Given the description of an element on the screen output the (x, y) to click on. 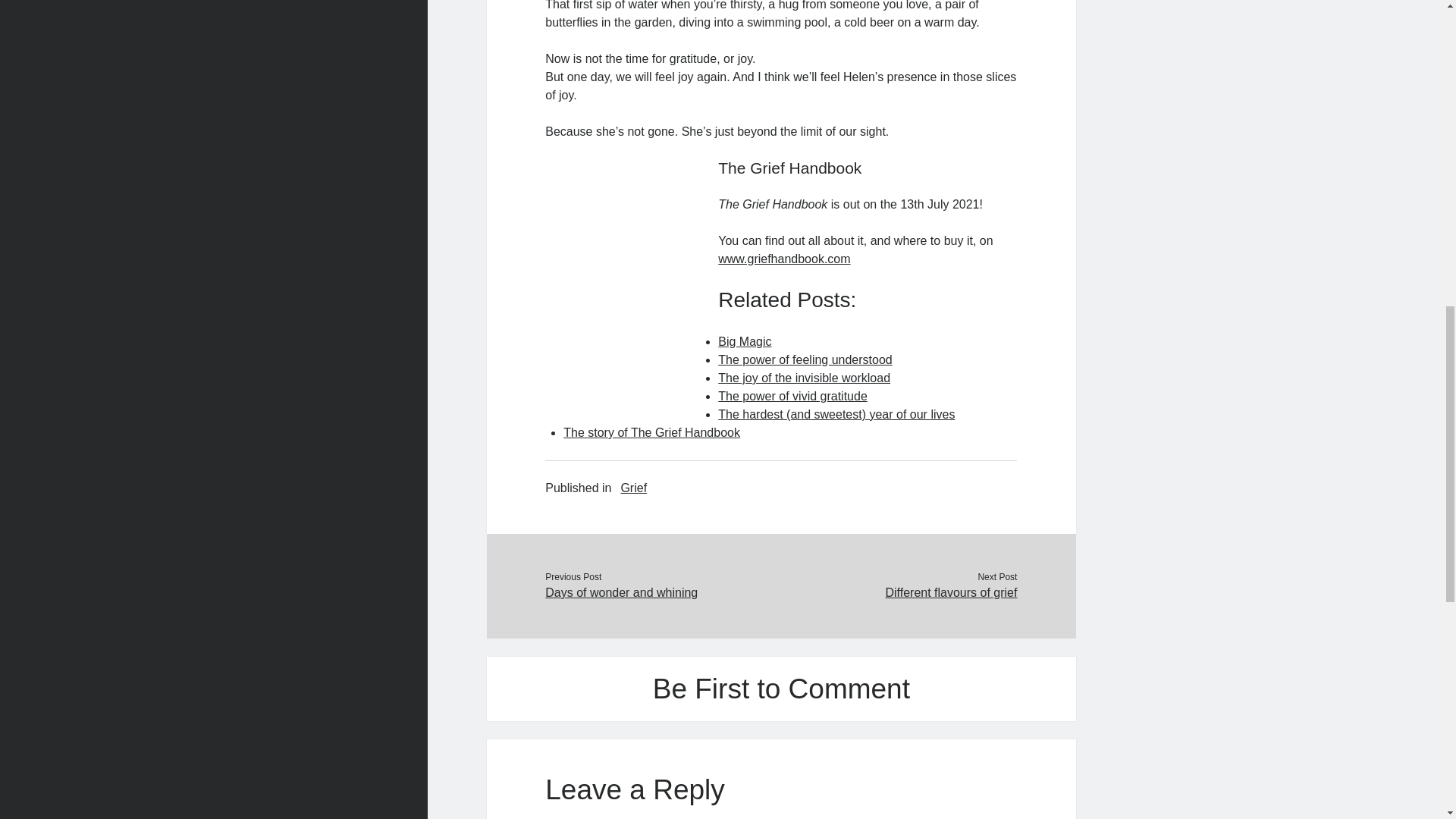
The joy of the invisible workload (803, 377)
Different flavours of grief (898, 592)
Big Magic (744, 341)
The power of vivid gratitude (792, 395)
Grief (633, 488)
Days of wonder and whining (662, 592)
The power of feeling understood (804, 359)
View all posts in Grief (633, 488)
www.griefhandbook.com (783, 258)
The story of The Grief Handbook (651, 431)
